Given the description of an element on the screen output the (x, y) to click on. 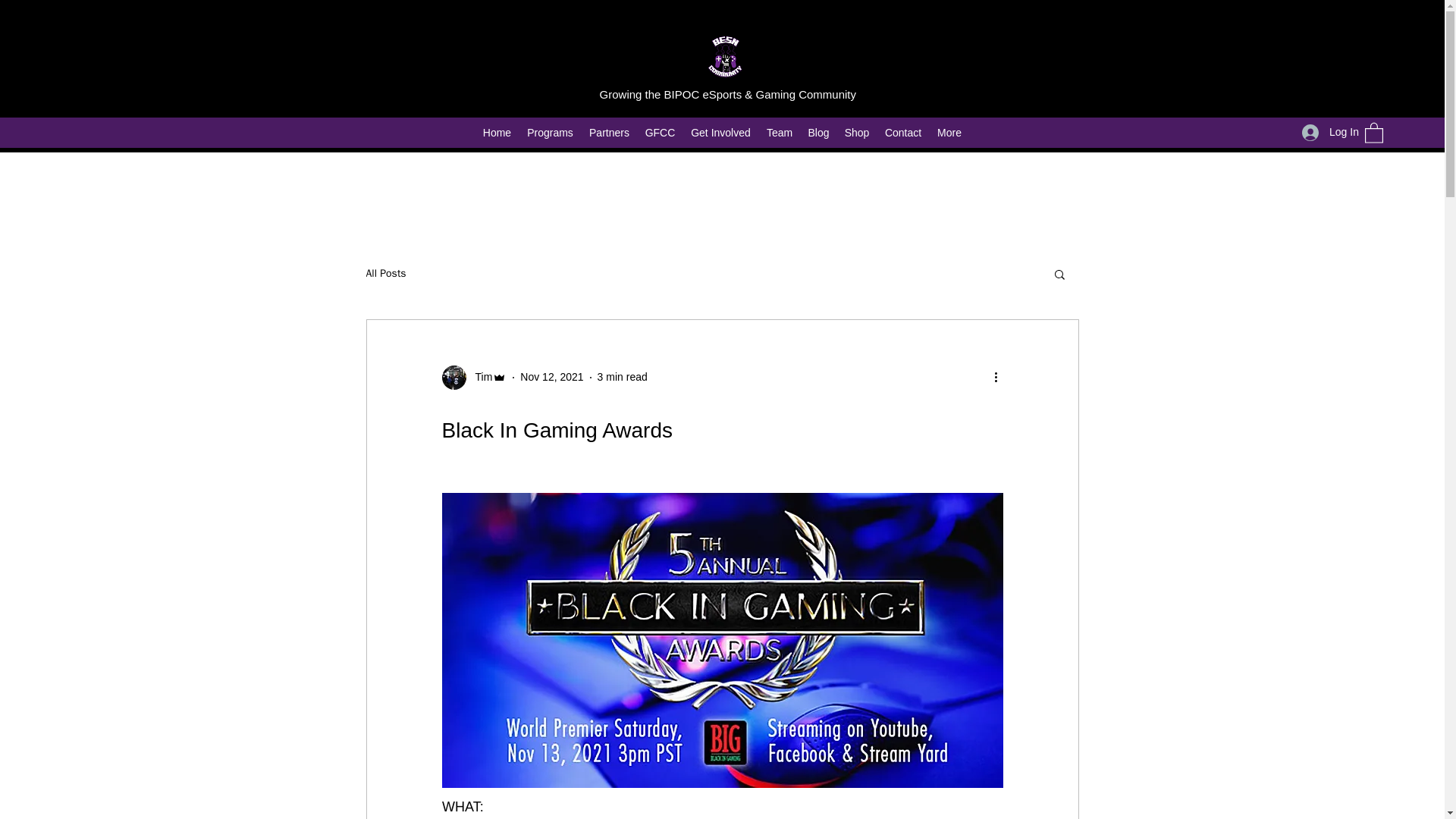
All Posts (385, 273)
Shop (857, 132)
Get Involved (720, 132)
Log In (1325, 131)
Nov 12, 2021 (551, 377)
Tim (478, 376)
Team (778, 132)
Blog (818, 132)
Home (496, 132)
Tim (473, 377)
